Given the description of an element on the screen output the (x, y) to click on. 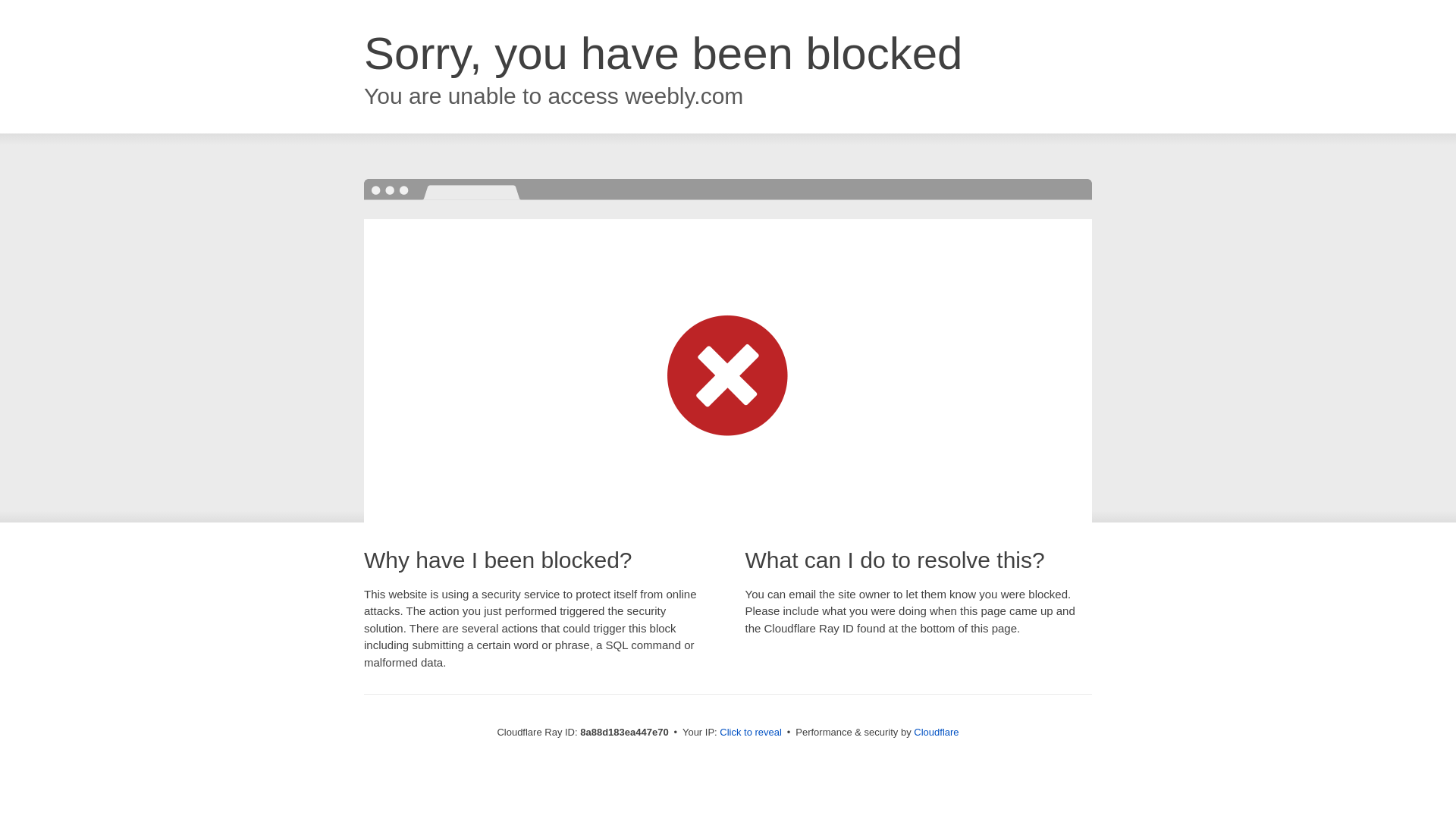
Cloudflare (936, 731)
Click to reveal (750, 732)
